Given the description of an element on the screen output the (x, y) to click on. 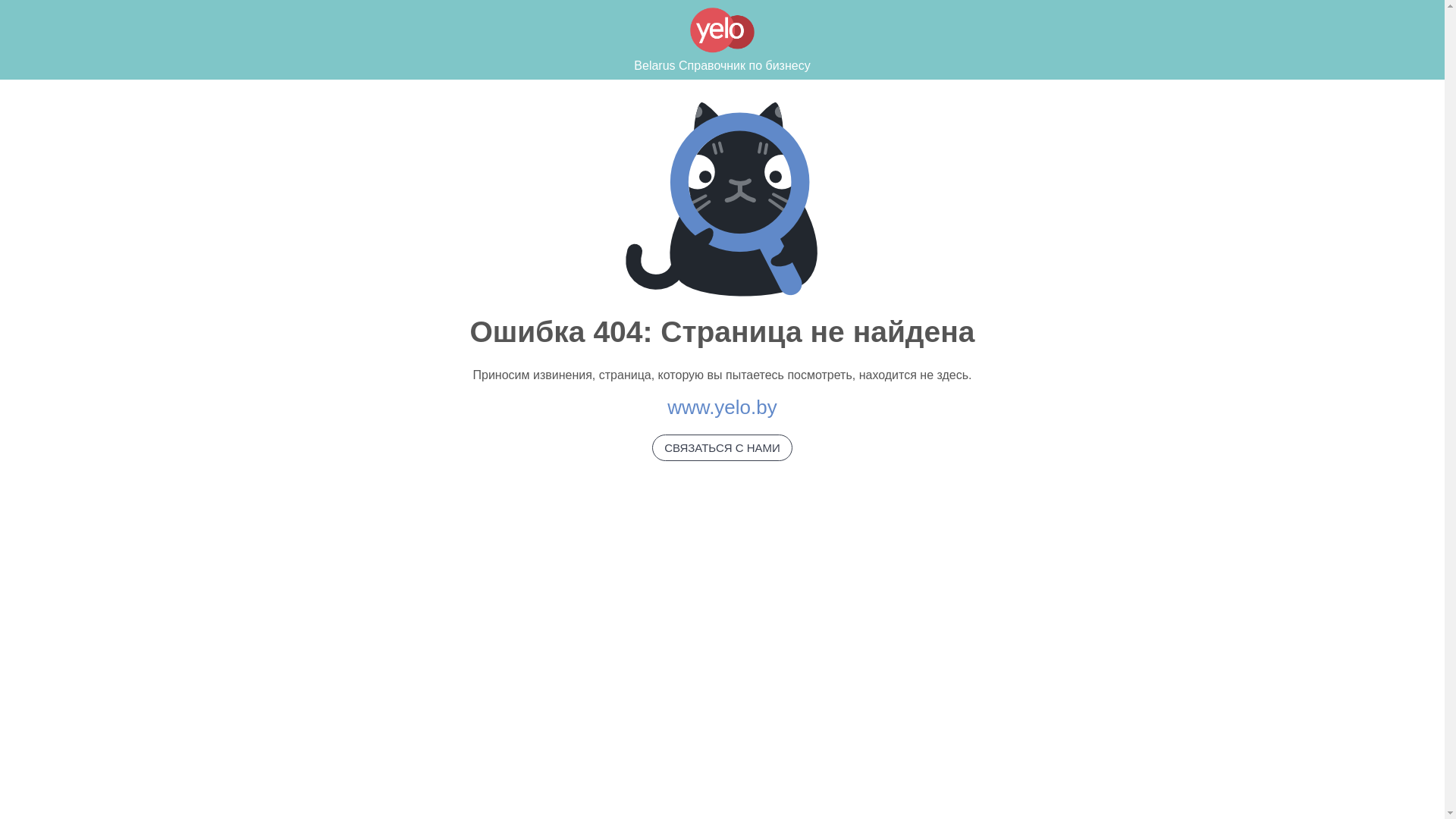
www.yelo.by Element type: text (722, 406)
